Given the description of an element on the screen output the (x, y) to click on. 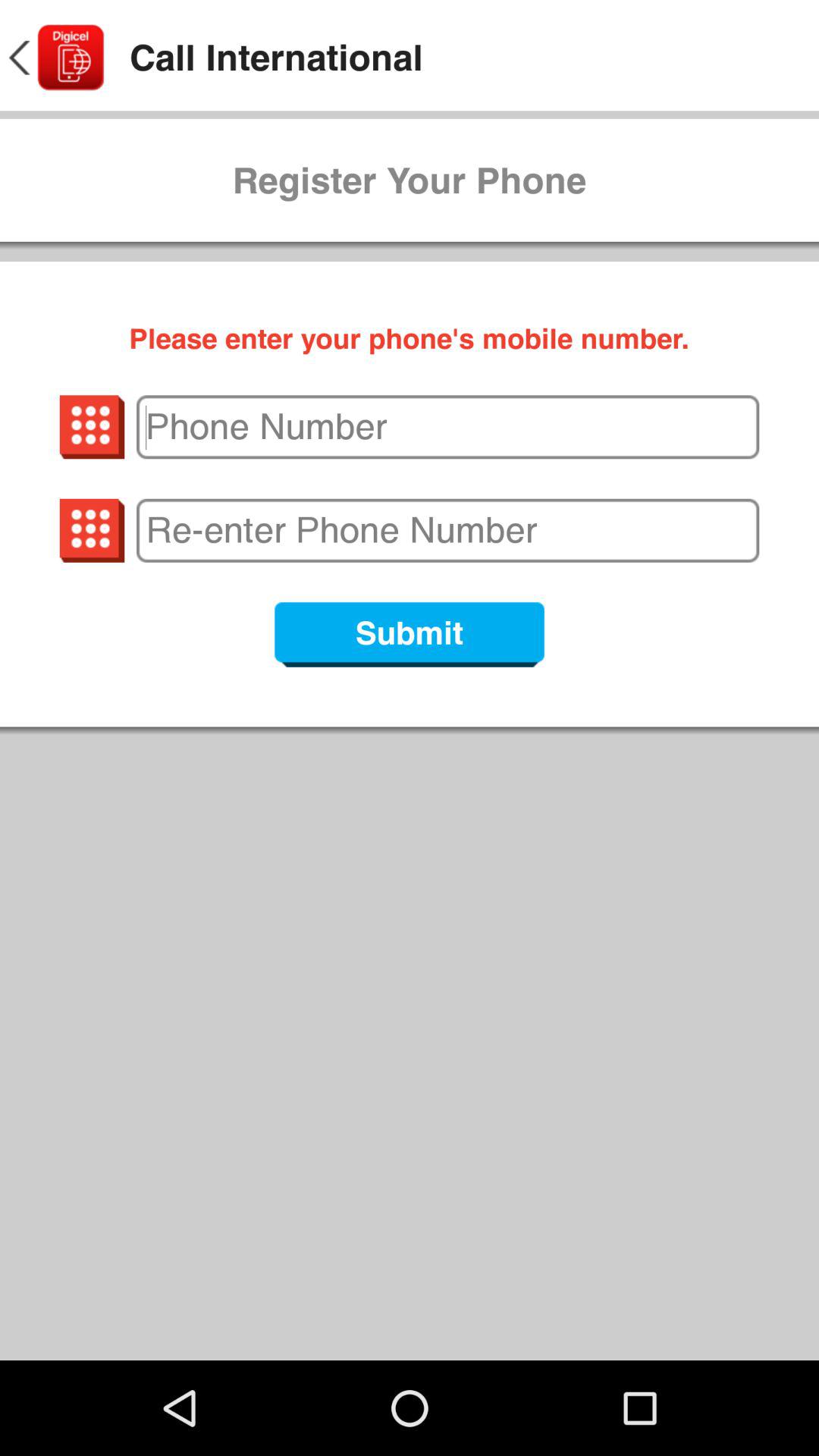
go back (54, 57)
